Given the description of an element on the screen output the (x, y) to click on. 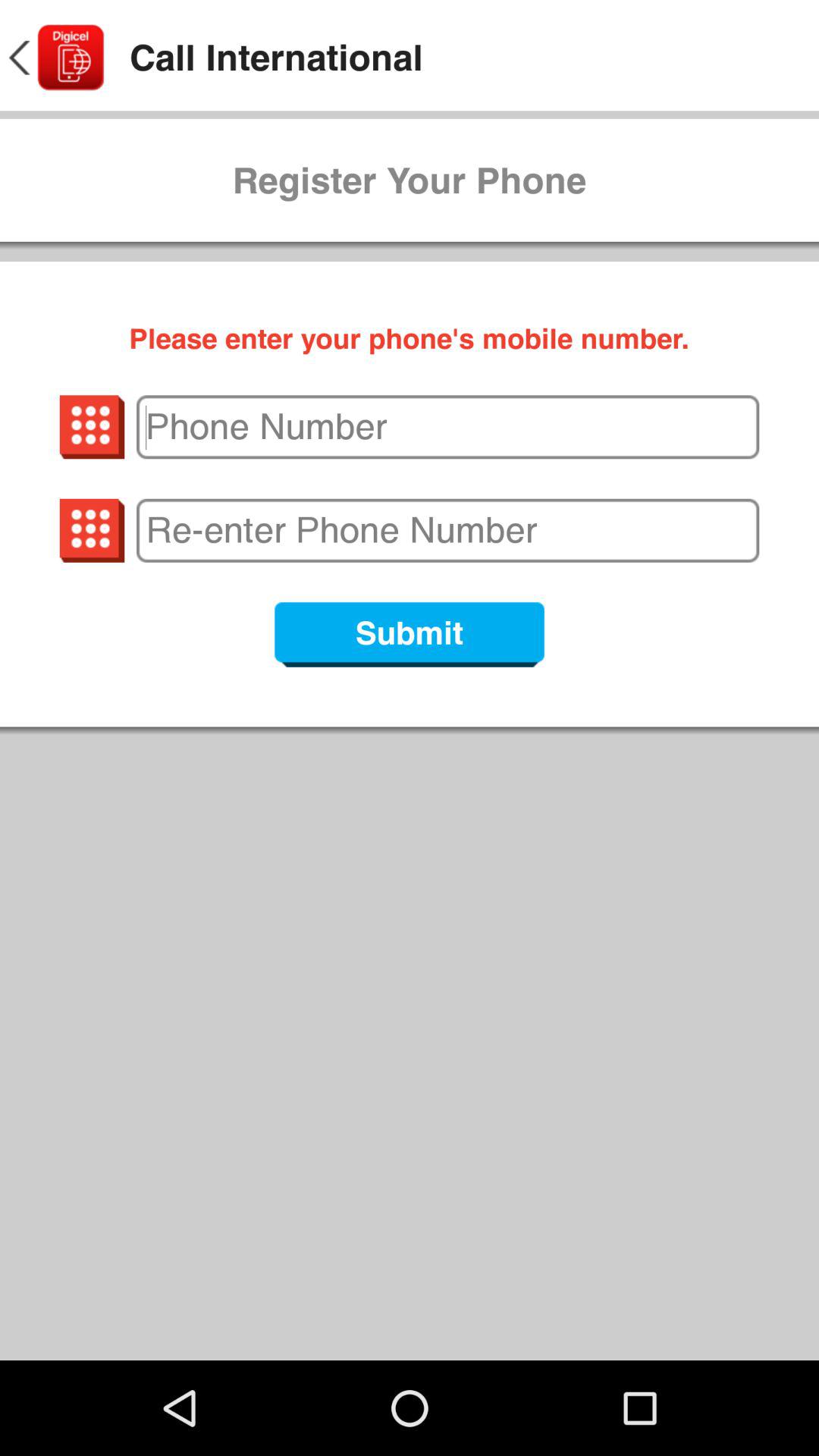
go back (54, 57)
